Given the description of an element on the screen output the (x, y) to click on. 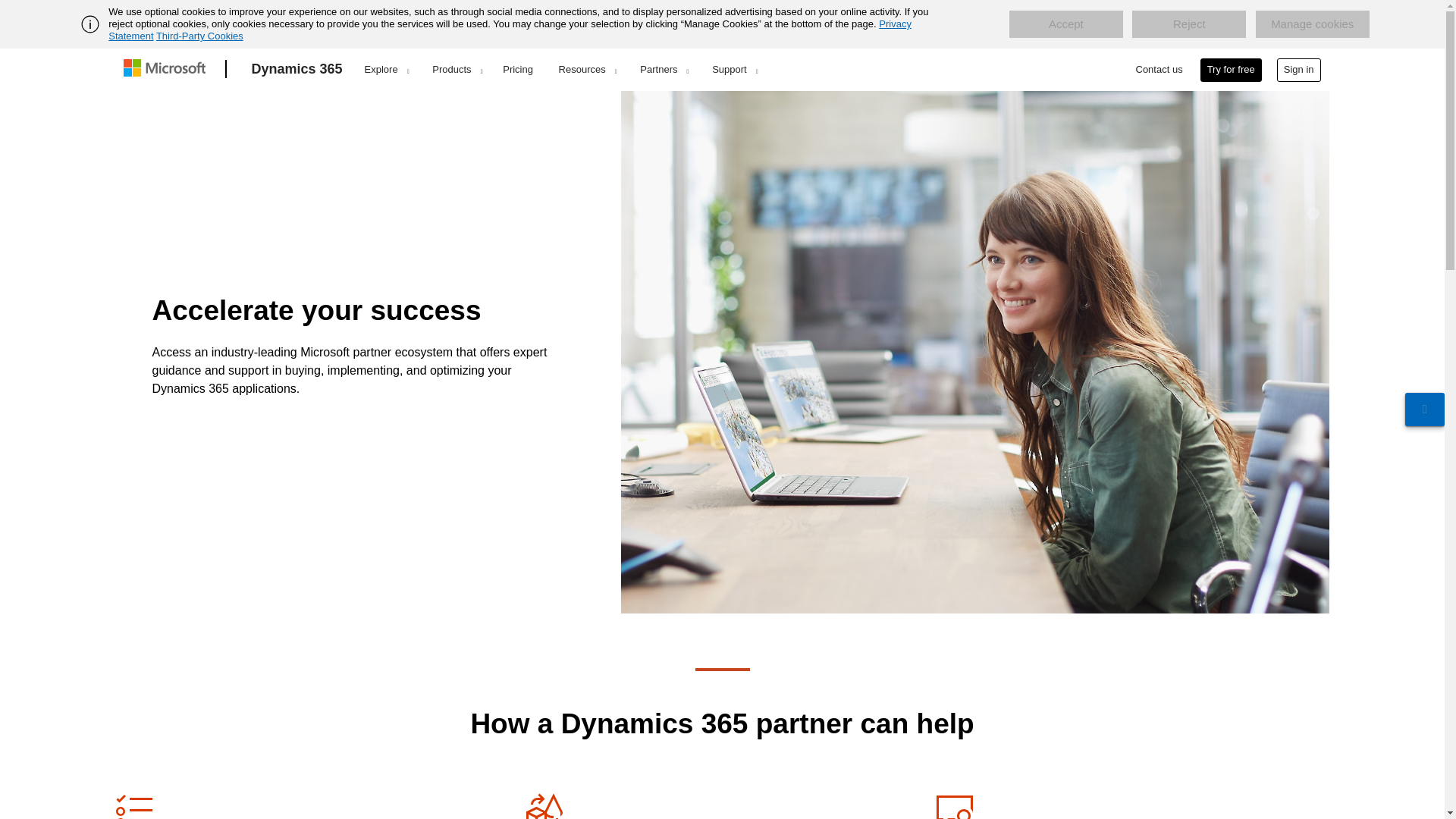
Explore (387, 69)
Products (457, 69)
Manage cookies (1312, 23)
Reject (1189, 23)
Privacy Statement (509, 29)
Microsoft (167, 69)
Third-Party Cookies (199, 35)
Dynamics 365 (297, 69)
Accept (1065, 23)
